Given the description of an element on the screen output the (x, y) to click on. 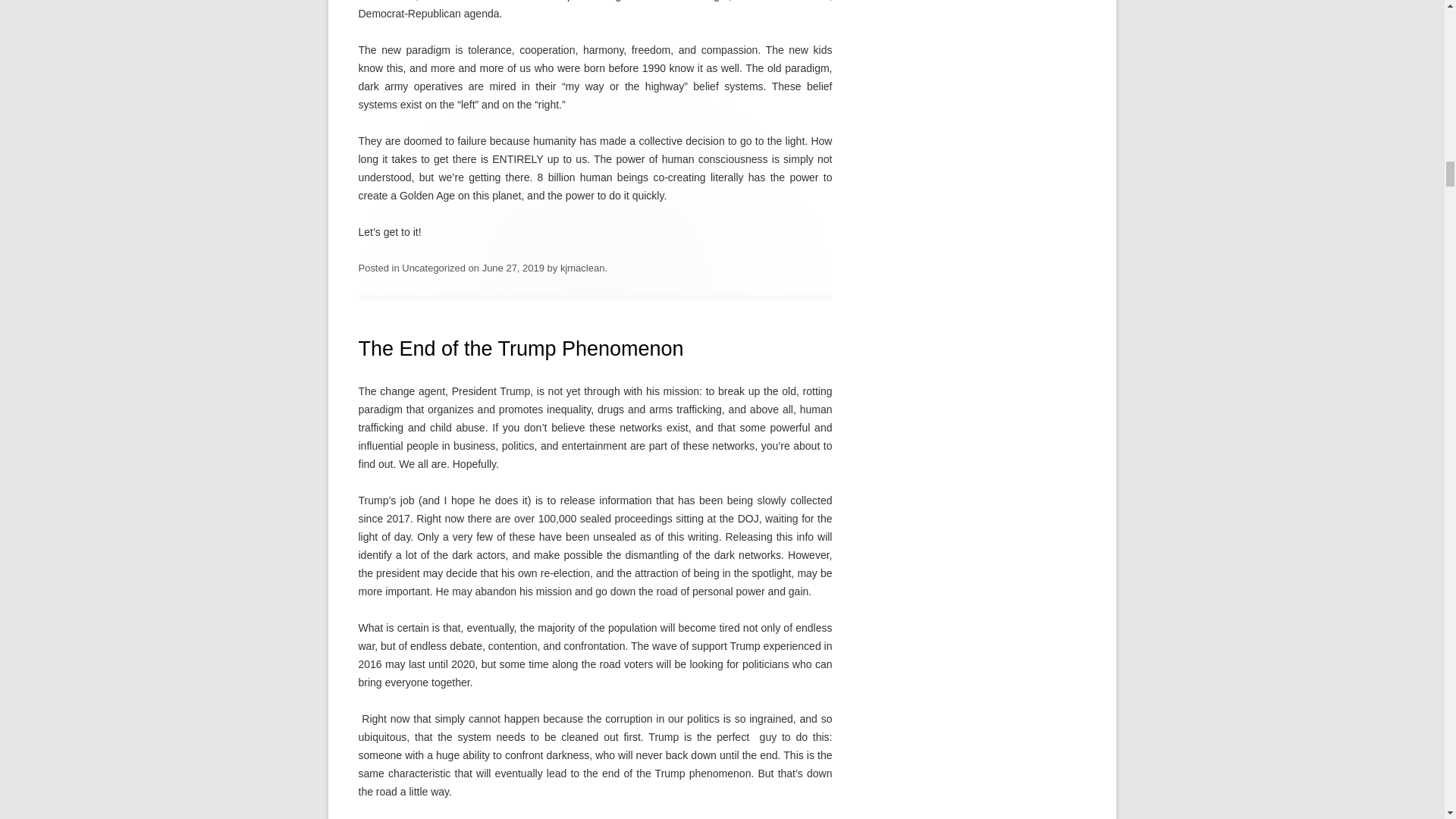
The End of the Trump Phenomenon (520, 348)
4:38 pm (512, 267)
Uncategorized (433, 267)
June 27, 2019 (512, 267)
View all posts by kjmaclean (582, 267)
kjmaclean (582, 267)
